Given the description of an element on the screen output the (x, y) to click on. 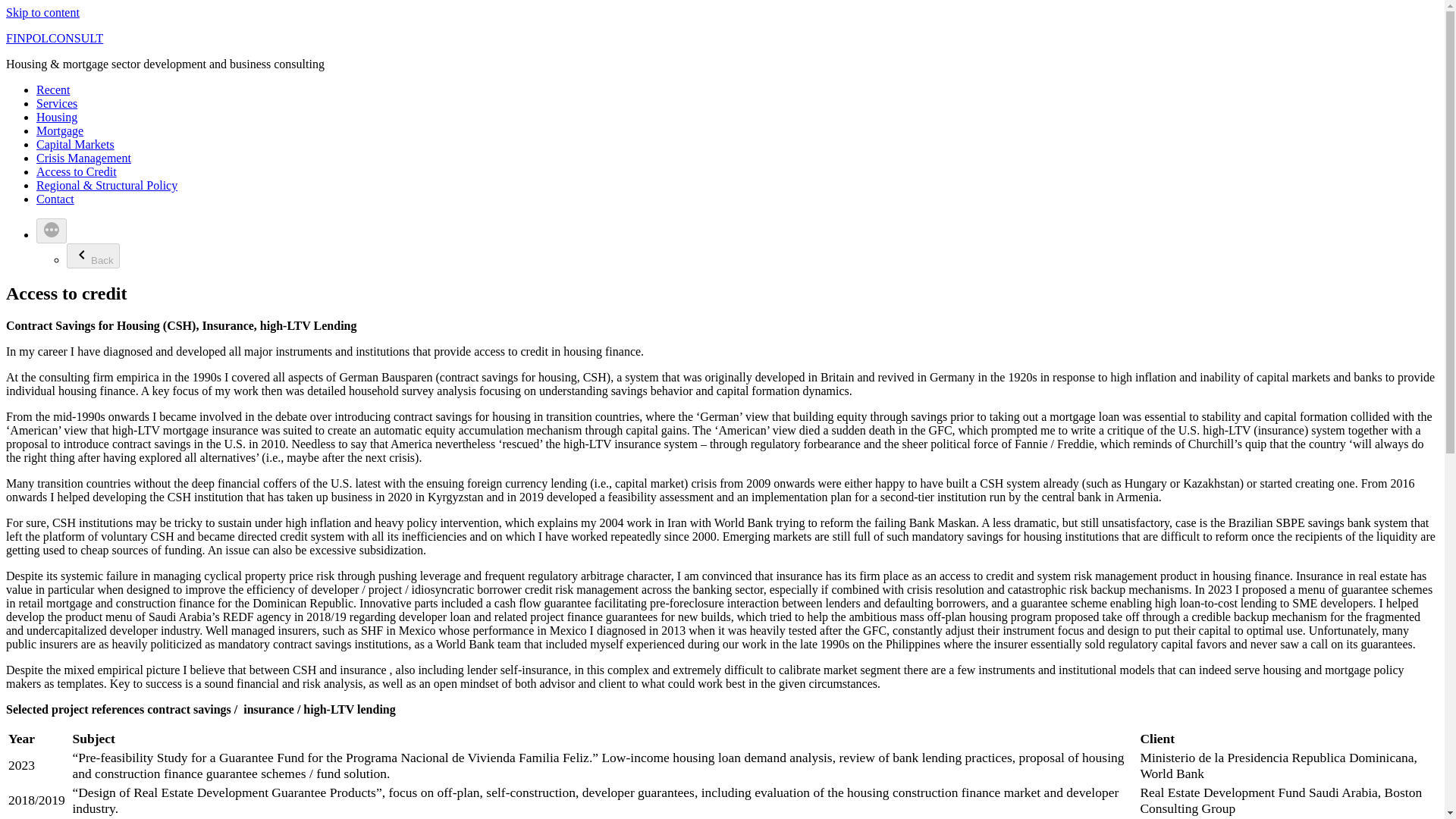
Capital Markets (75, 144)
Skip to content (42, 11)
Mortgage (59, 130)
Access to Credit (76, 171)
Services (56, 103)
FINPOLCONSULT (54, 38)
Recent (52, 89)
Contact (55, 198)
Housing (56, 116)
Back (92, 255)
Crisis Management (83, 157)
